Given the description of an element on the screen output the (x, y) to click on. 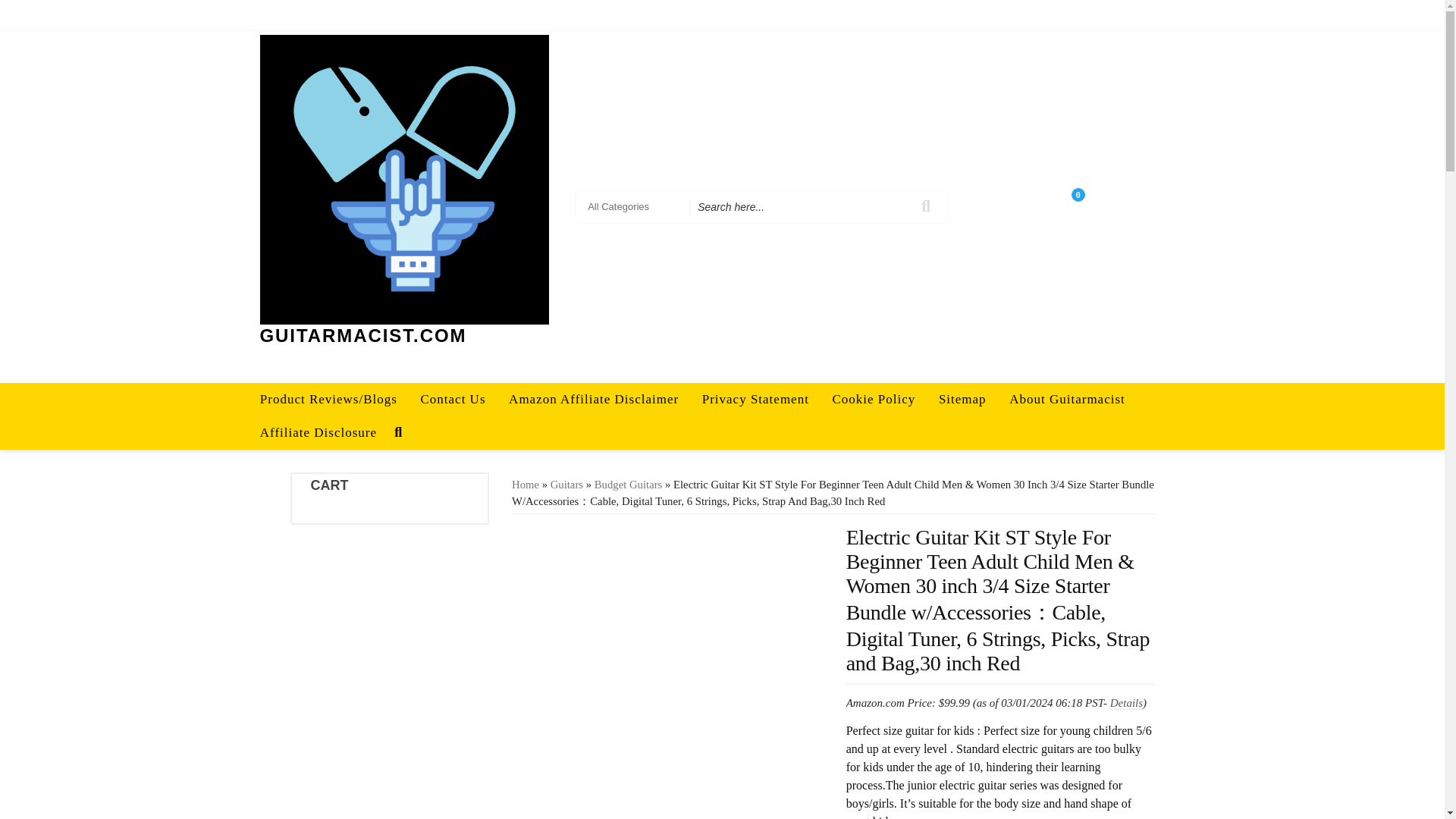
GUITARMACIST.COM (362, 335)
My Account (1097, 14)
Contact Us (453, 399)
Details (1125, 702)
Privacy Statement (755, 399)
Cart View (1086, 205)
Budget Guitars (628, 484)
Guitars (566, 484)
Amazon Affiliate Disclaimer (593, 399)
About Guitarmacist (1067, 399)
